Given the description of an element on the screen output the (x, y) to click on. 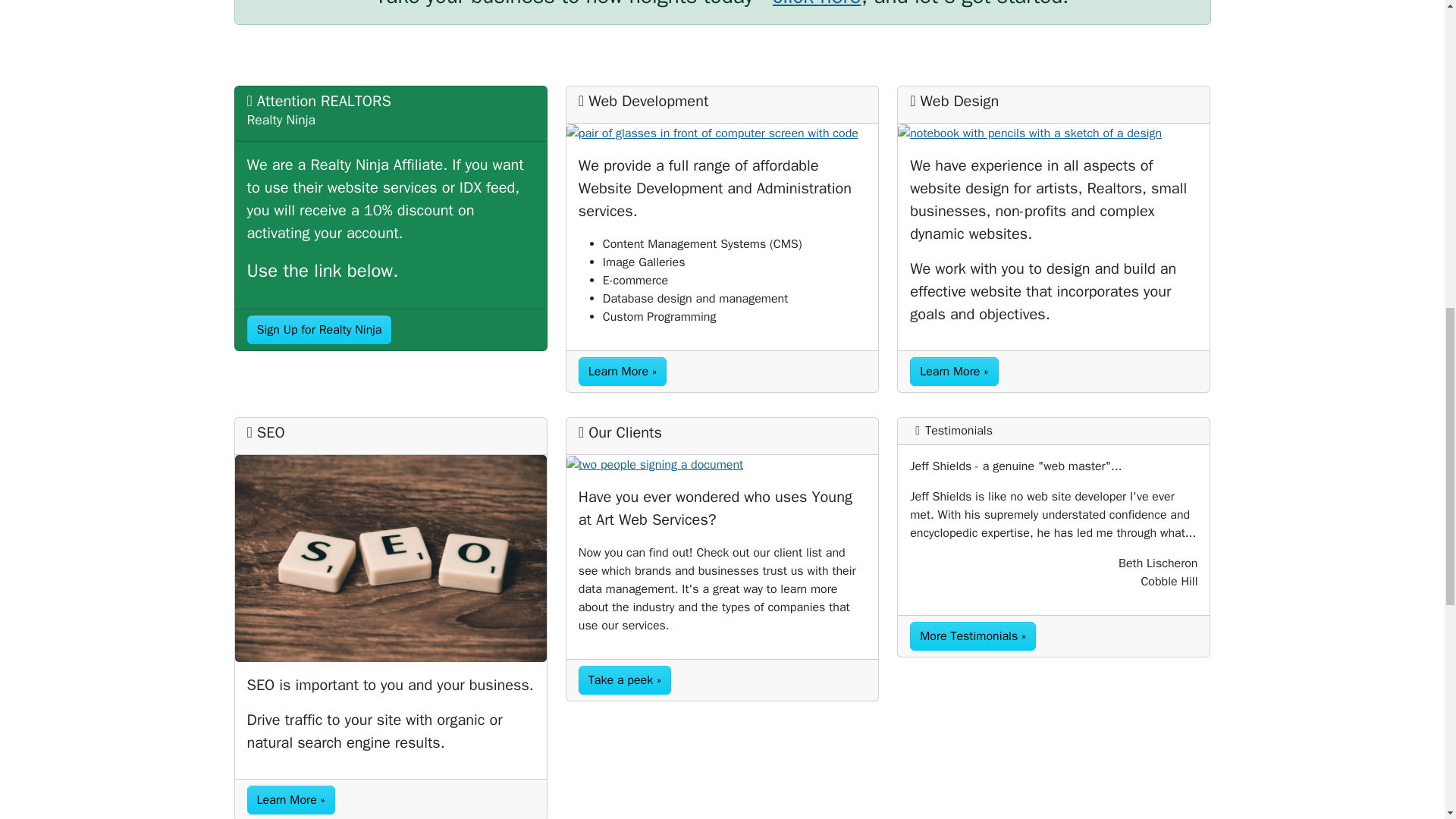
Our Clients (721, 464)
click here (817, 4)
Web Design (1053, 132)
Sign Up for Realty Ninja (319, 329)
Web Development (622, 371)
Web Design (953, 371)
link to Web Development (721, 132)
Web Development (721, 132)
Attention REALTORS (319, 329)
SEO (390, 558)
